Given the description of an element on the screen output the (x, y) to click on. 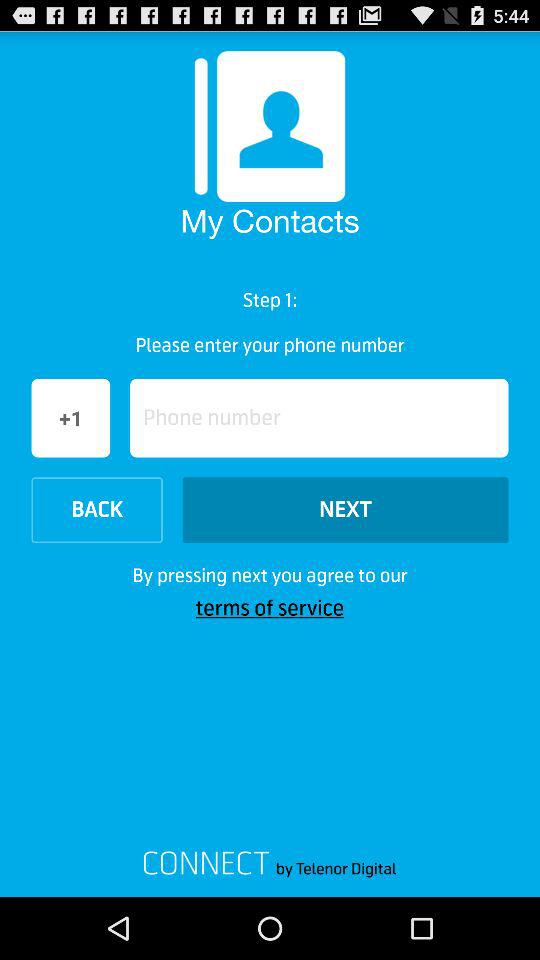
turn on the item above the back icon (319, 417)
